Given the description of an element on the screen output the (x, y) to click on. 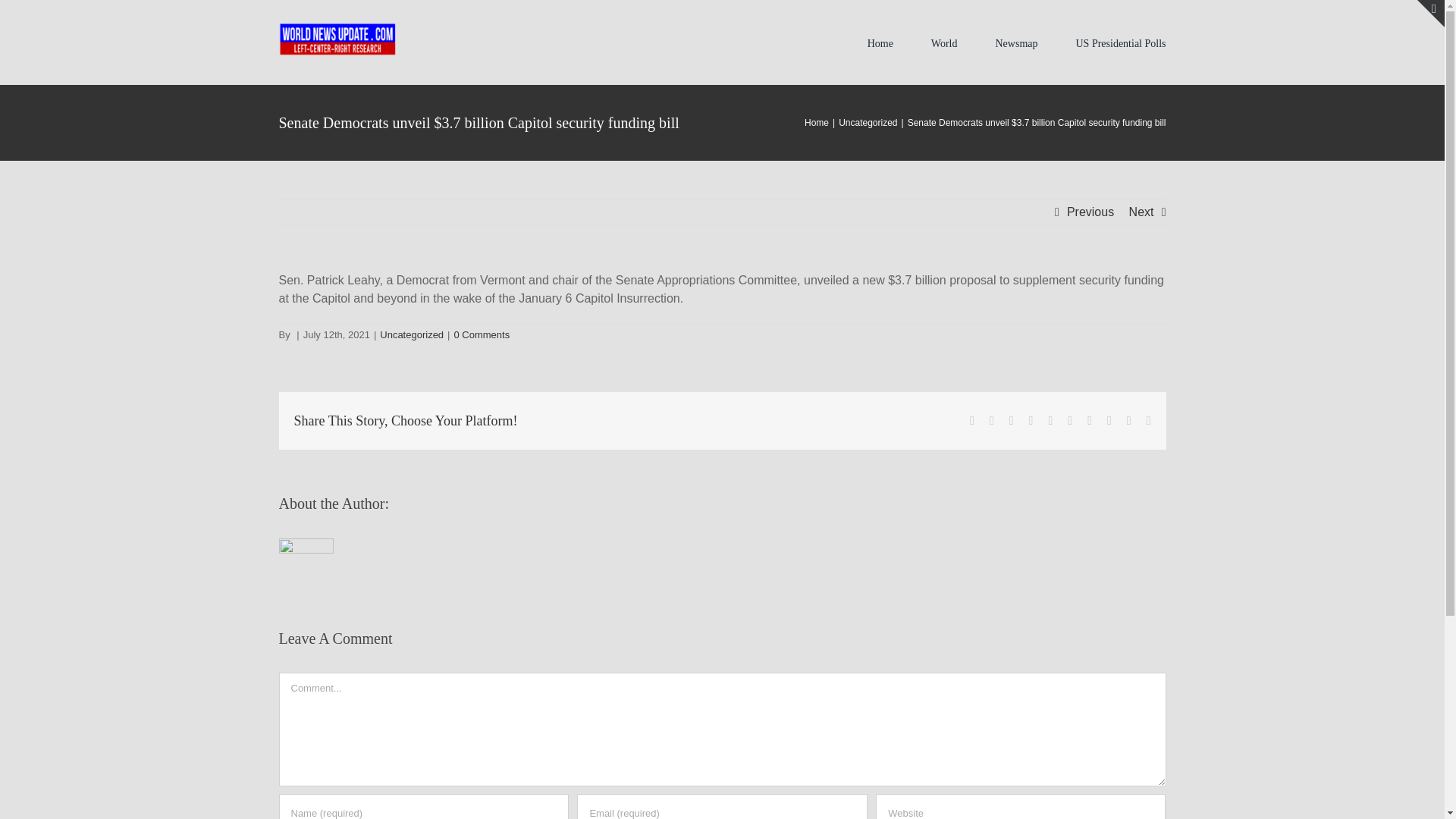
Home (816, 122)
Next (1141, 212)
Uncategorized (867, 122)
Newsmap (1015, 42)
Previous (1090, 212)
Uncategorized (412, 334)
0 Comments (480, 334)
US Presidential Polls (1120, 42)
